Given the description of an element on the screen output the (x, y) to click on. 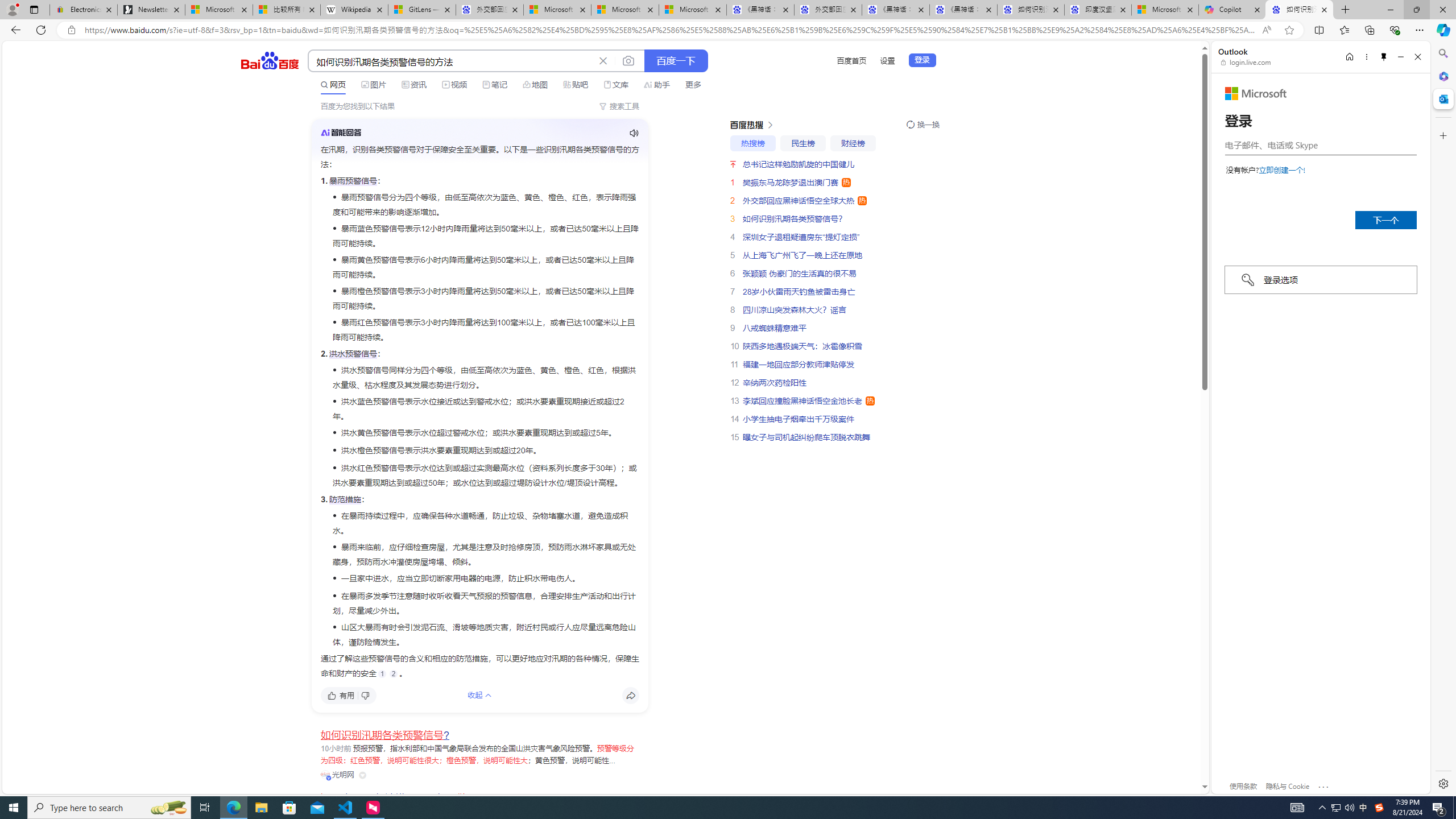
Customize (1442, 135)
